Given the description of an element on the screen output the (x, y) to click on. 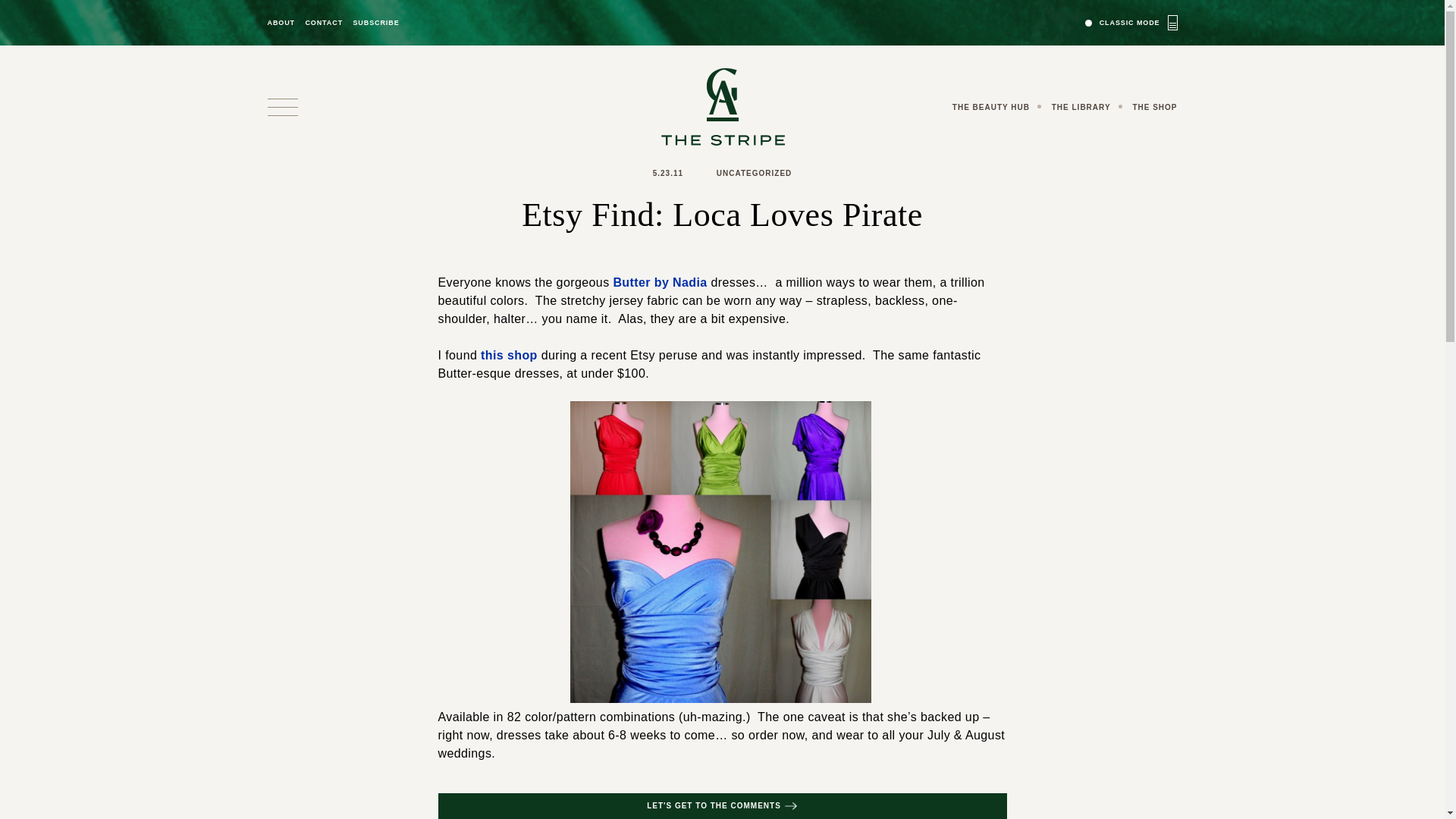
The Stripe (722, 106)
CONTACT (323, 23)
CLASSIC MODE (1130, 22)
SUBSCRIBE (375, 23)
ABOUT (280, 23)
View all posts in Uncategorized (754, 172)
